Given the description of an element on the screen output the (x, y) to click on. 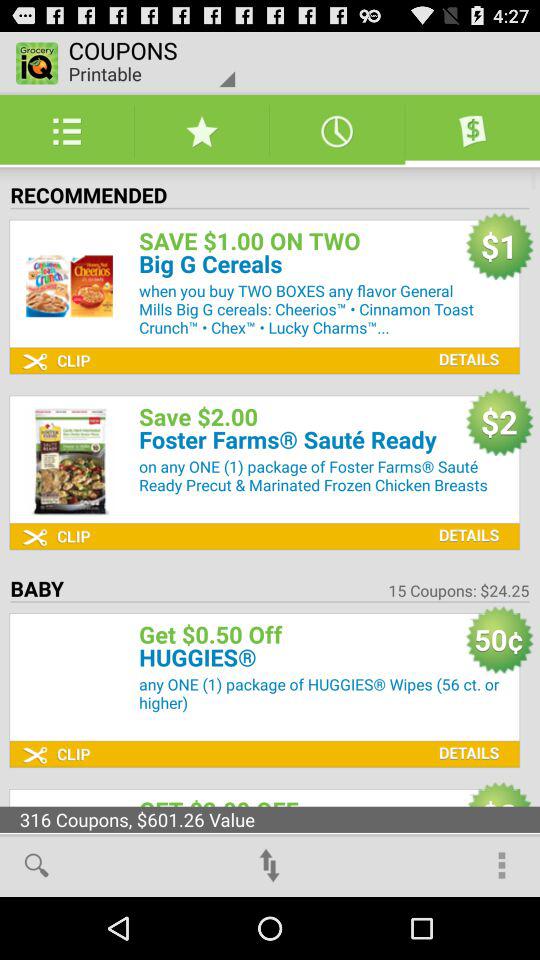
see more details (464, 519)
